Given the description of an element on the screen output the (x, y) to click on. 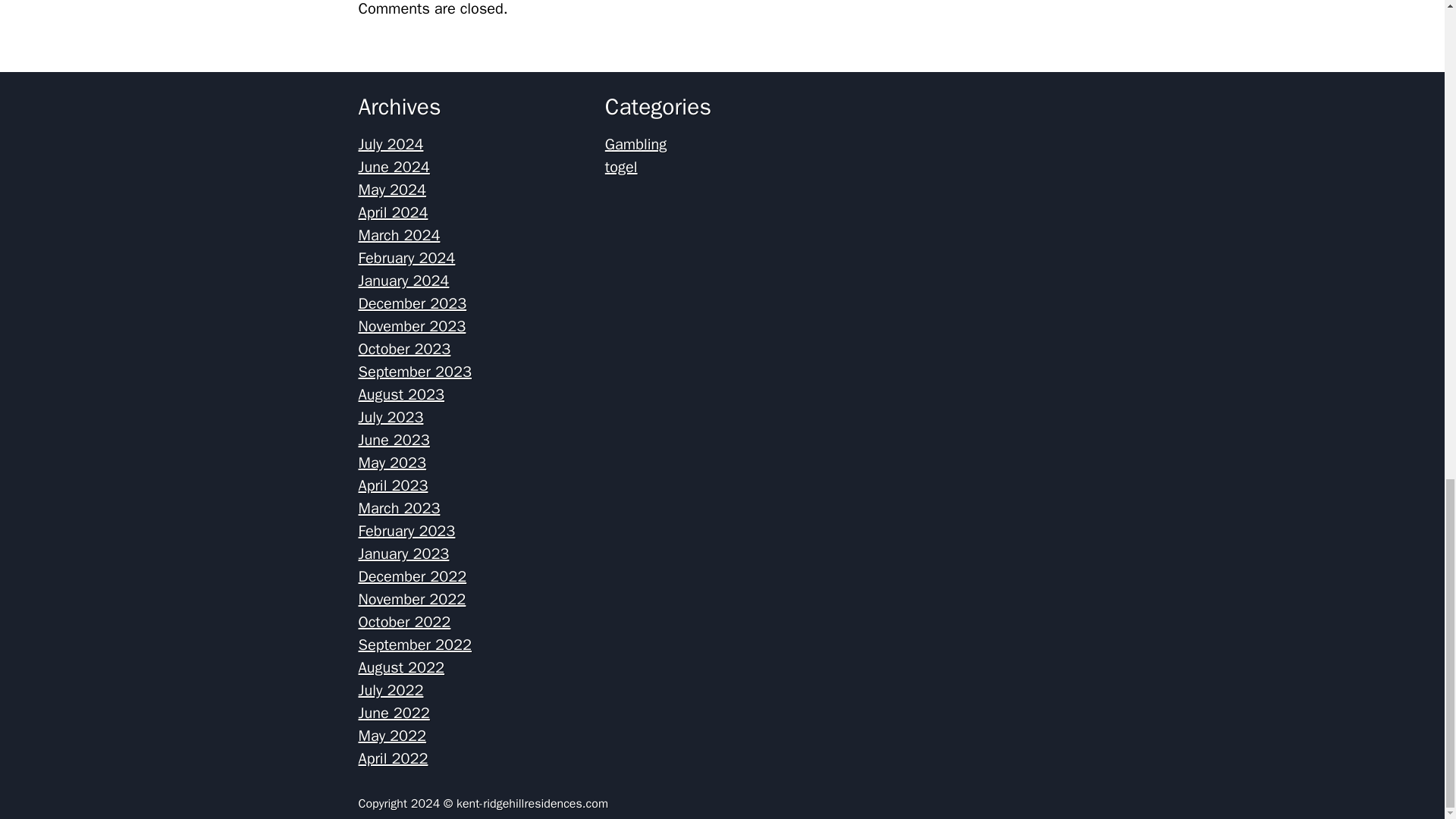
August 2023 (401, 394)
February 2023 (406, 530)
August 2022 (401, 667)
May 2024 (392, 189)
June 2024 (393, 167)
December 2023 (411, 303)
January 2023 (403, 553)
February 2024 (406, 257)
April 2024 (393, 212)
July 2023 (390, 416)
October 2023 (403, 348)
June 2023 (393, 439)
togel (621, 167)
October 2022 (403, 621)
June 2022 (393, 712)
